Given the description of an element on the screen output the (x, y) to click on. 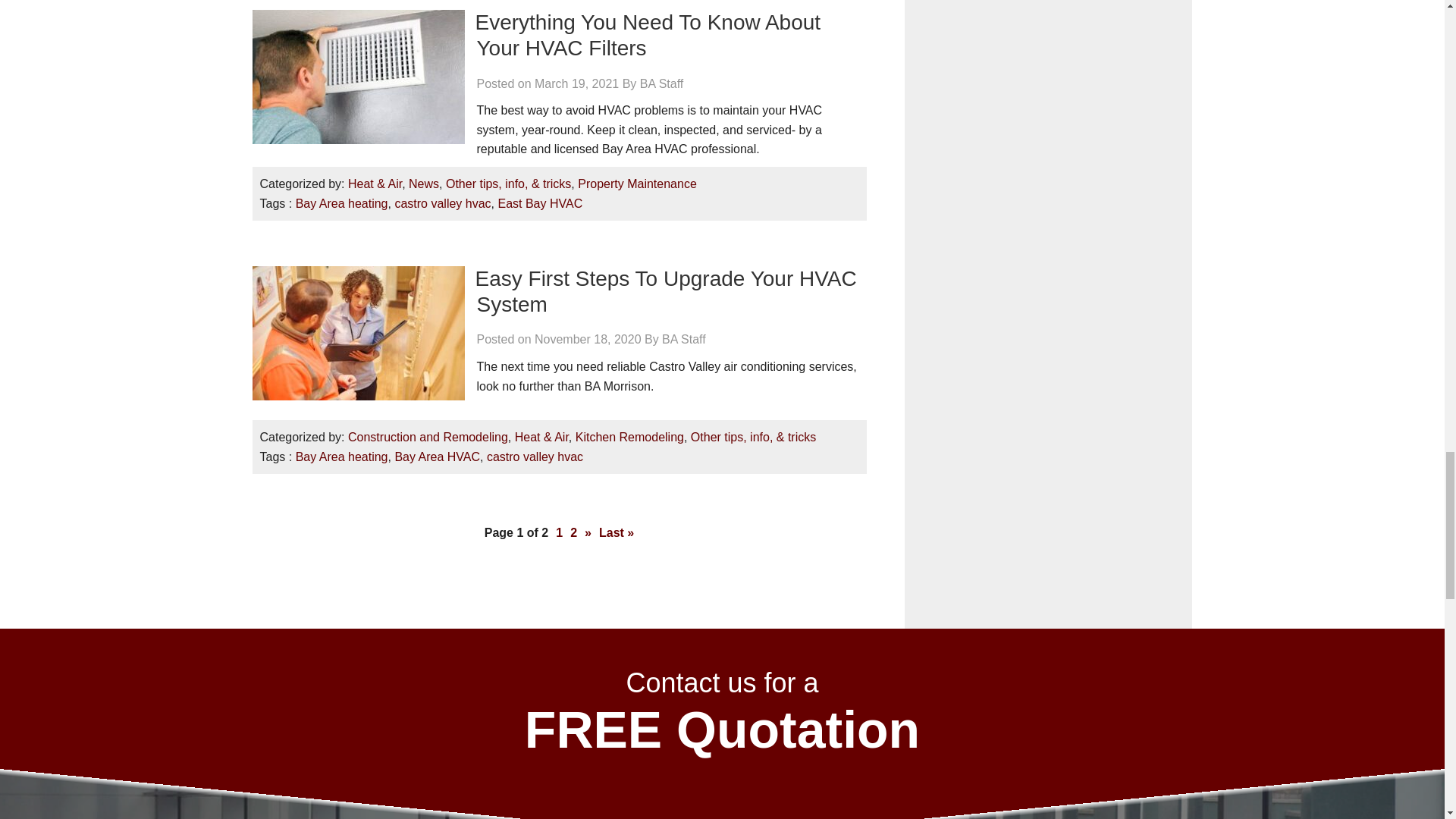
Last (615, 532)
